Given the description of an element on the screen output the (x, y) to click on. 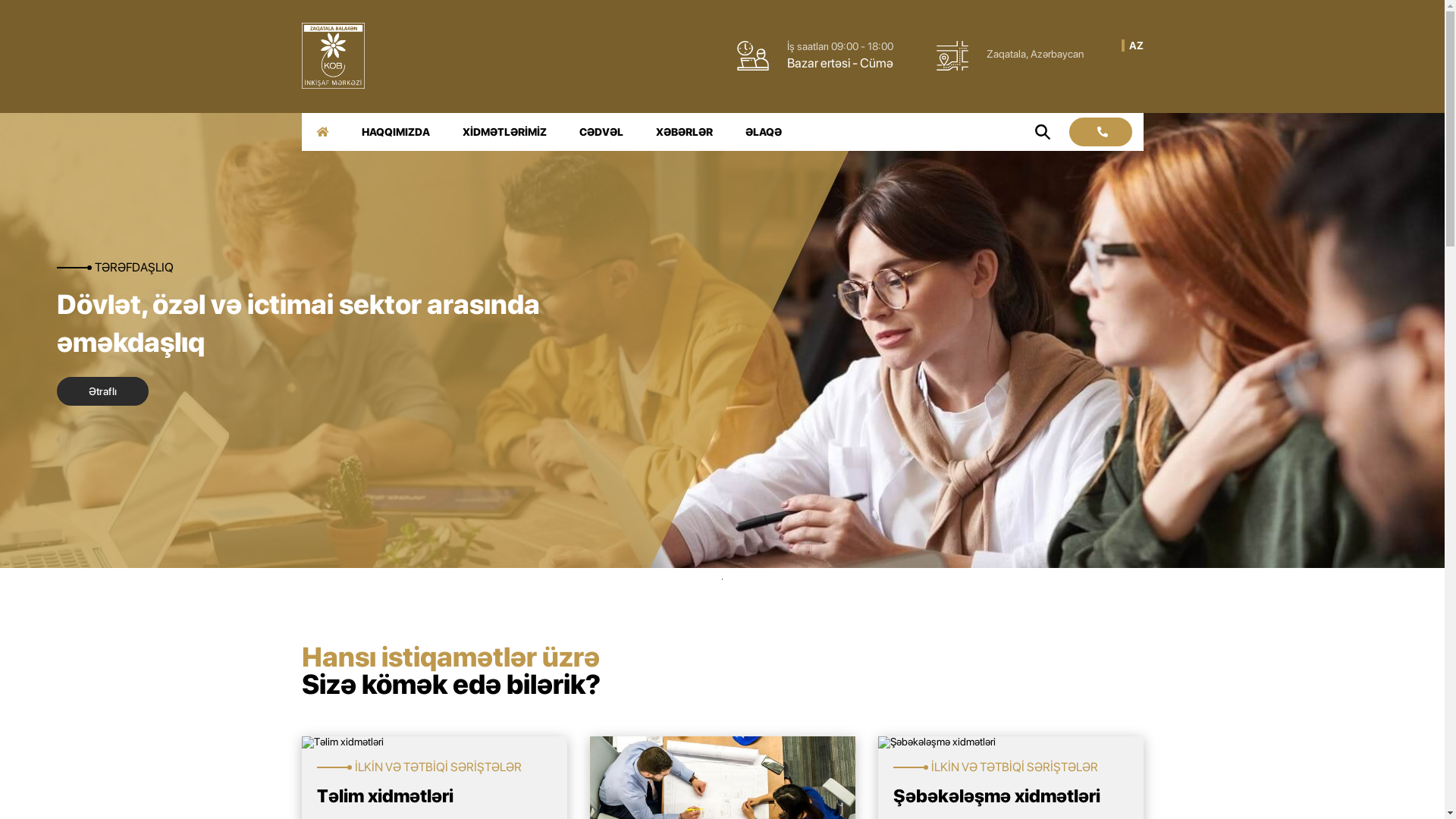
AZ Element type: text (1135, 45)
HAQQIMIZDA Element type: text (394, 131)
1 Element type: text (721, 578)
